Given the description of an element on the screen output the (x, y) to click on. 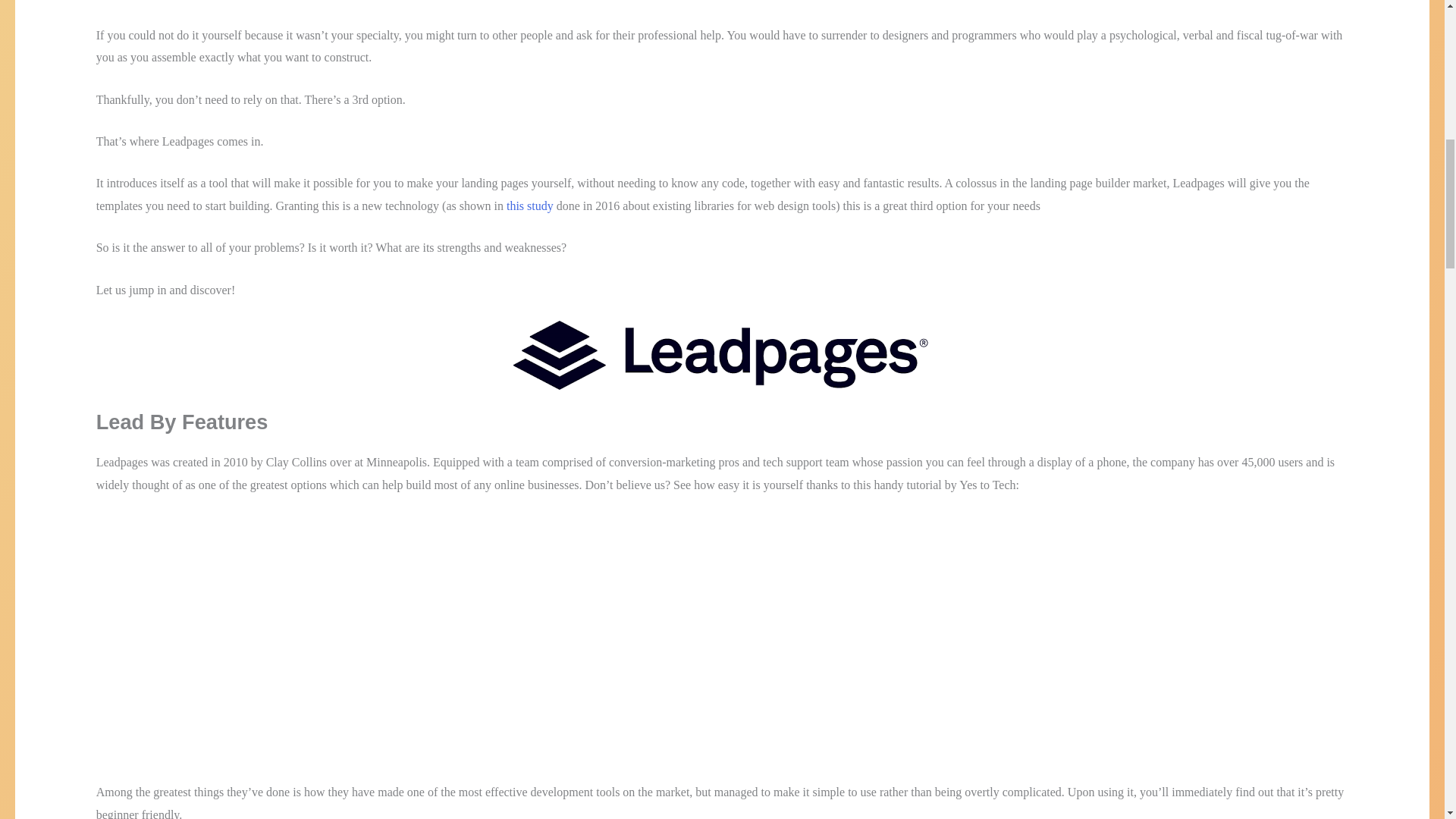
this study (529, 205)
